Given the description of an element on the screen output the (x, y) to click on. 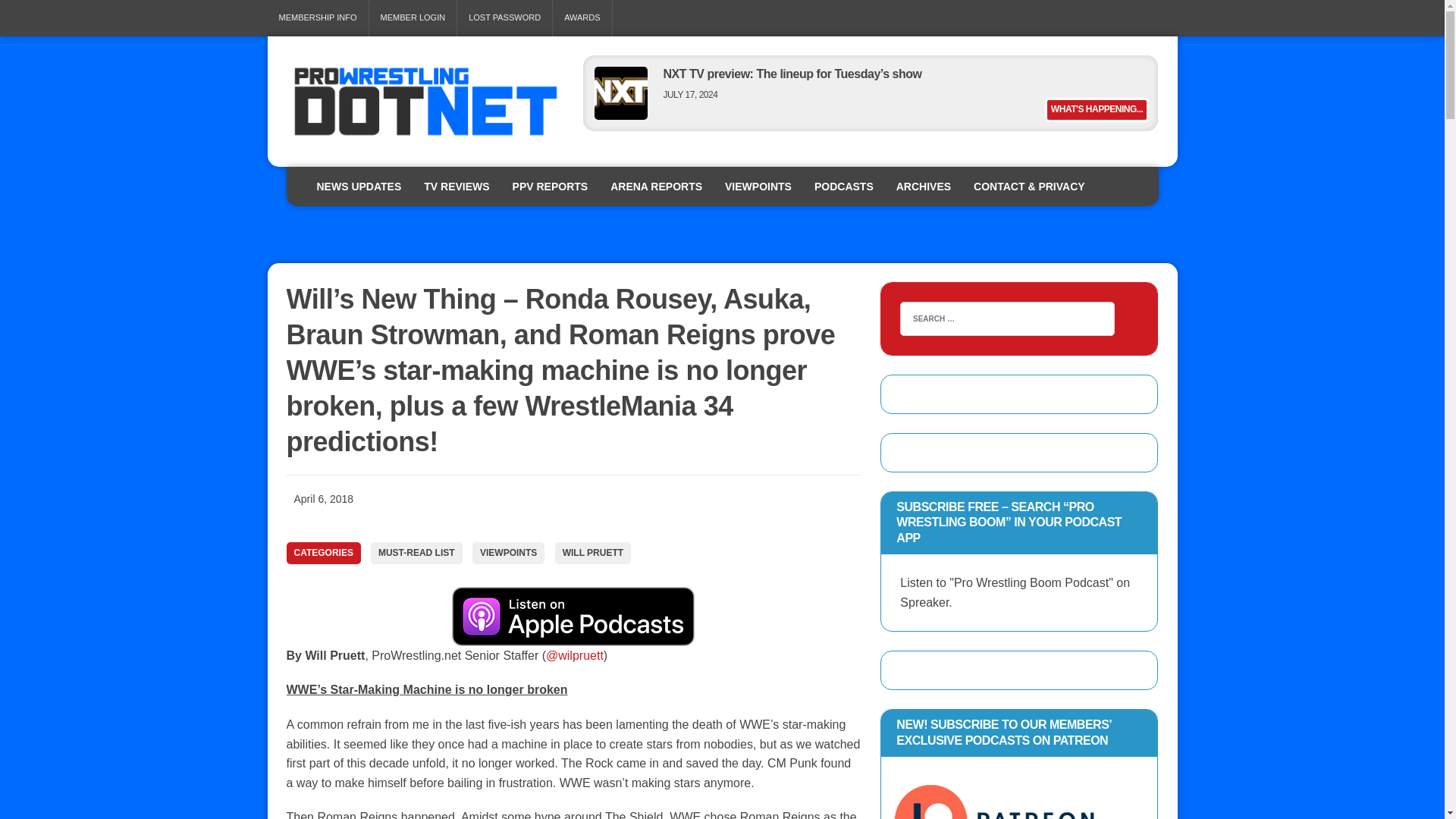
NEWS UPDATES (358, 186)
LOST PASSWORD (504, 18)
TV REVIEWS (456, 186)
Pro Wrestling Dot Net (425, 101)
AWARDS (582, 18)
MEMBER LOGIN (413, 18)
MEMBERSHIP INFO (317, 18)
